Given the description of an element on the screen output the (x, y) to click on. 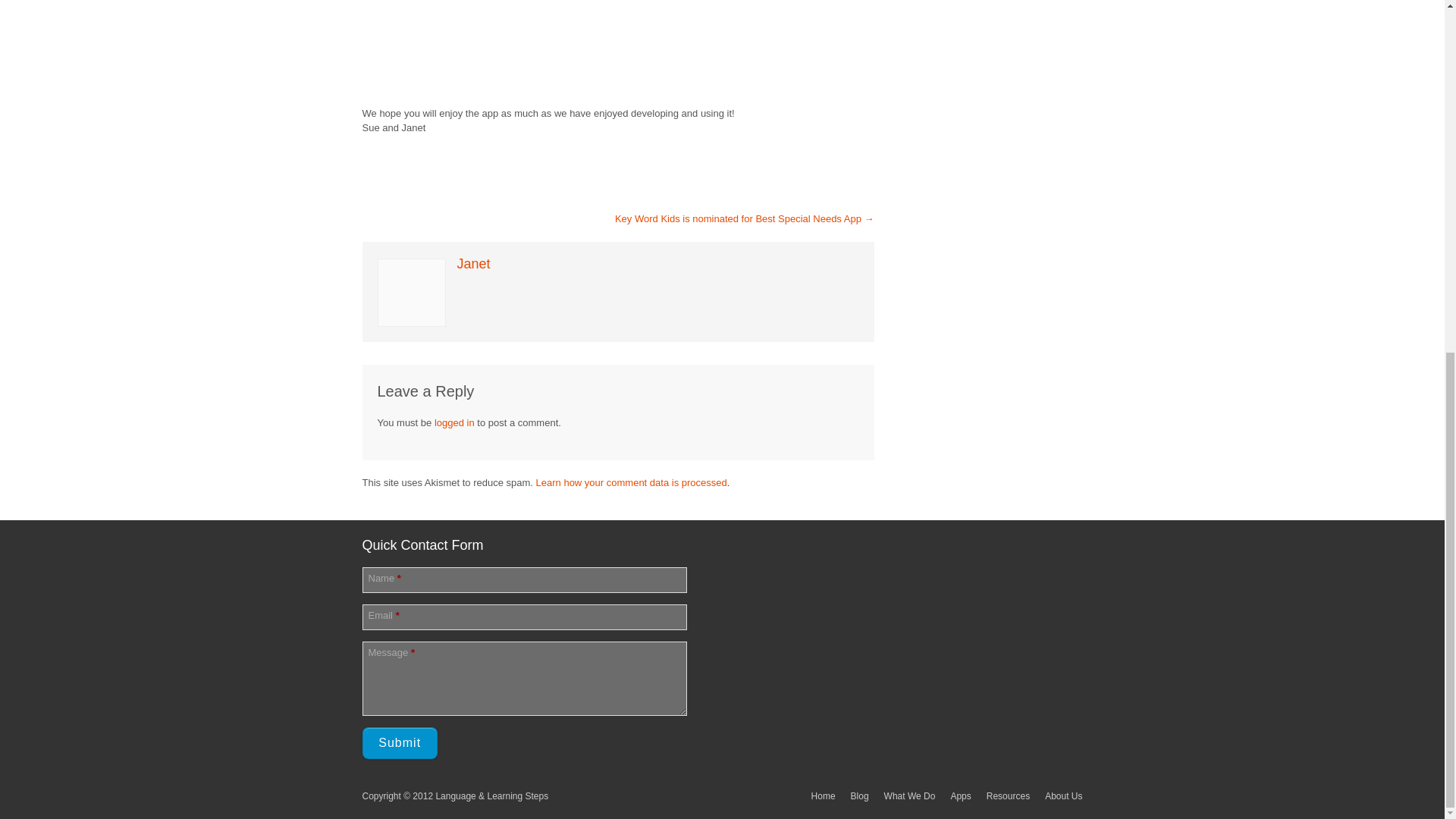
Key Word Kids Trailer (551, 43)
Learn how your comment data is processed (630, 482)
Blog (859, 796)
Submit (400, 743)
Janet (473, 263)
What We Do (909, 796)
Apps (960, 796)
Resources (1008, 796)
About Us (1063, 796)
logged in (453, 421)
